Given the description of an element on the screen output the (x, y) to click on. 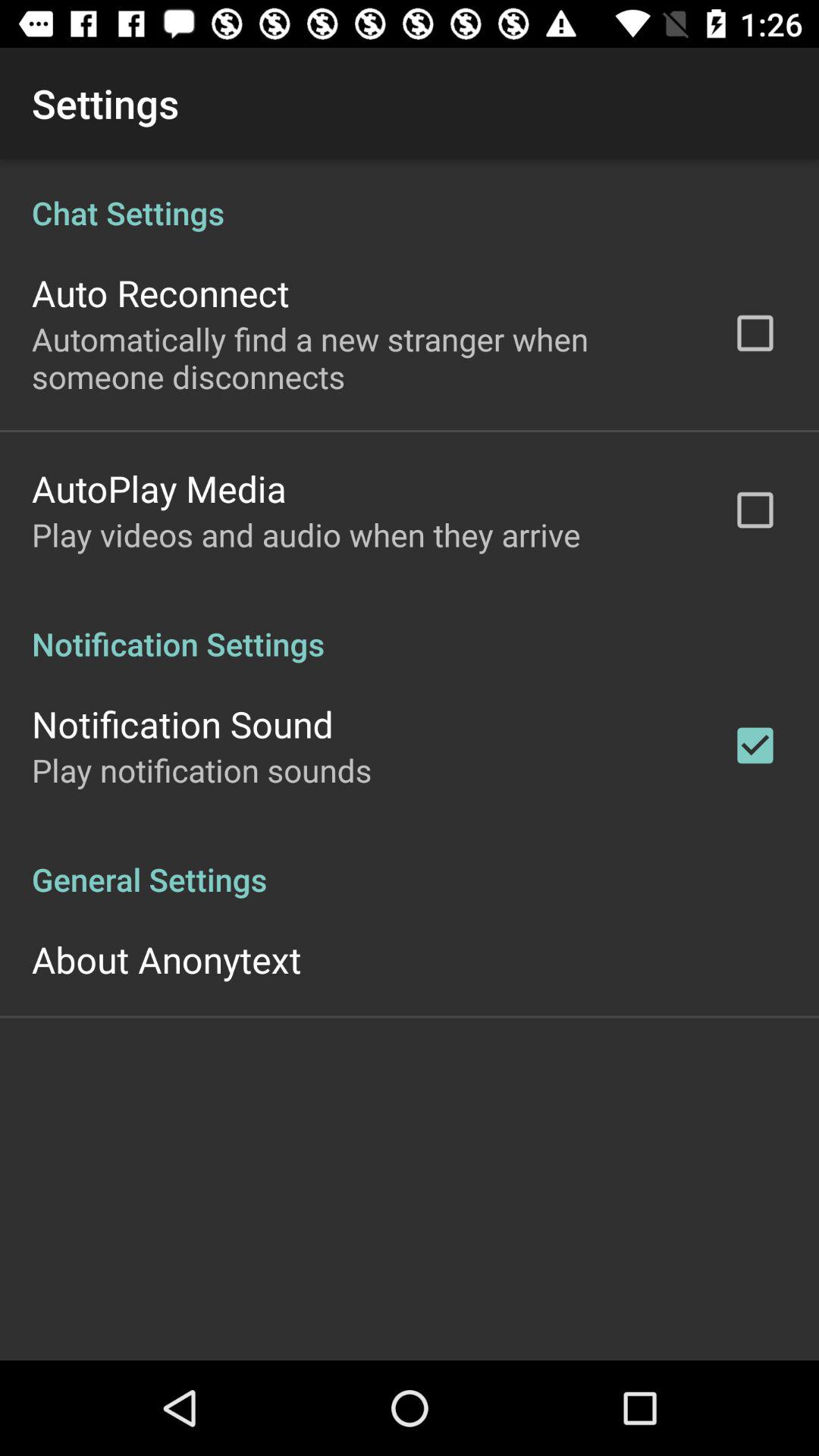
select the about anonytext icon (166, 959)
